Given the description of an element on the screen output the (x, y) to click on. 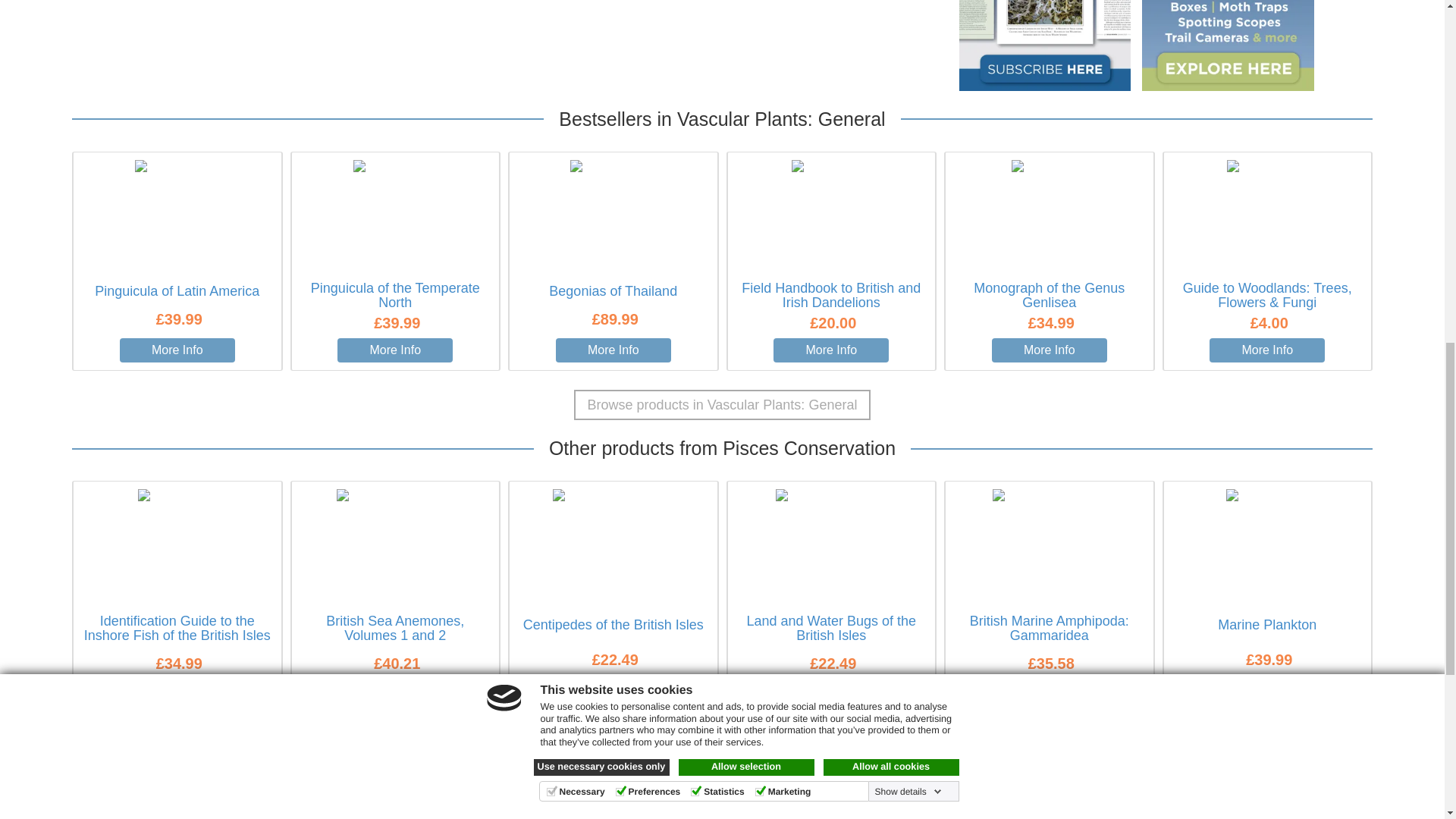
Sign up here (841, 807)
